Given the description of an element on the screen output the (x, y) to click on. 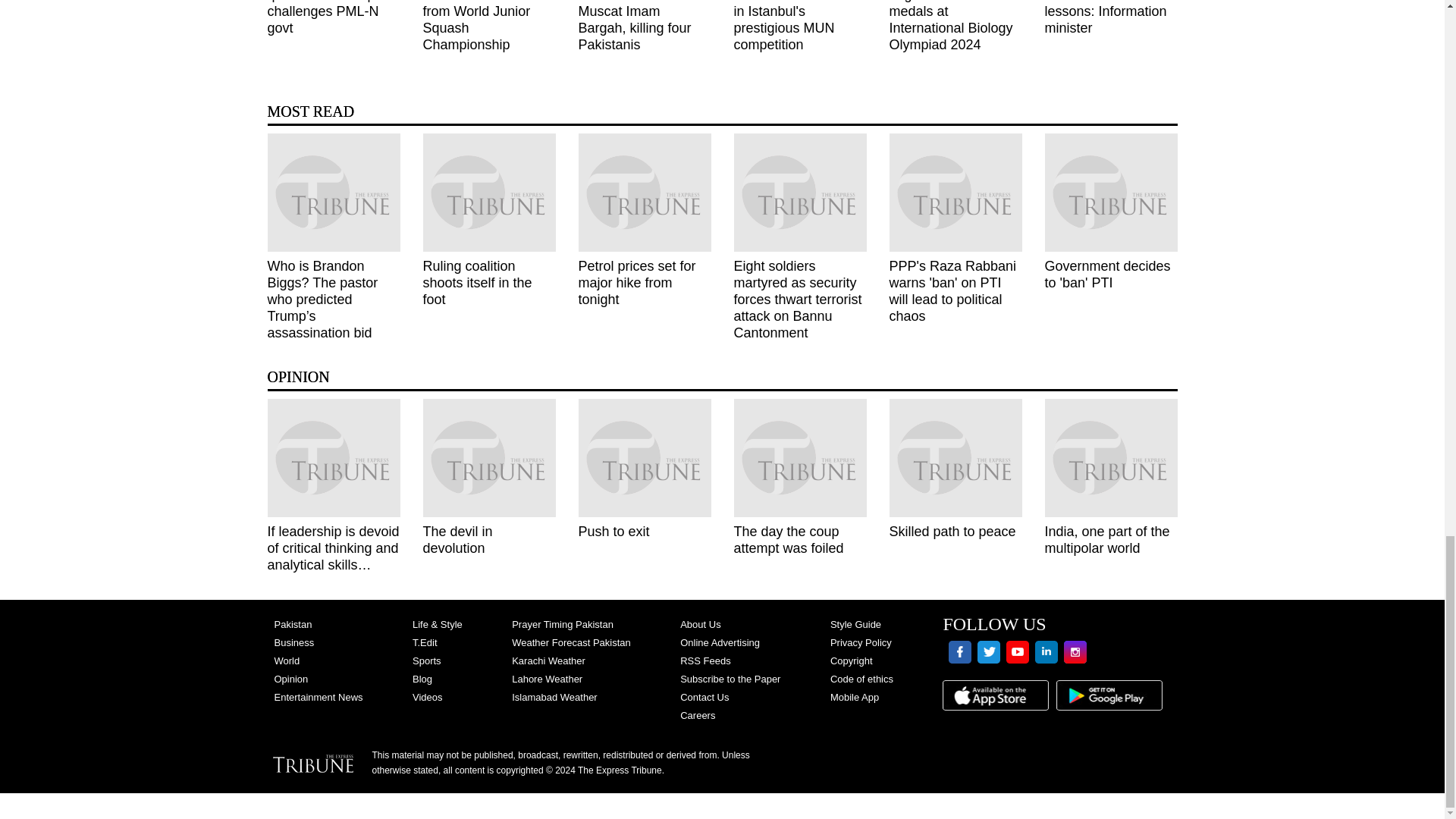
skilled path to peace (955, 457)
the devil in devolution (489, 457)
push to exit (644, 457)
india one part of the multipolar world (1111, 457)
the day the coup attempt was foiled (799, 457)
petrol prices set for major hike from tonight (644, 192)
government decides to ban pti (1111, 192)
ruling coalition shoots itself in the foot (489, 192)
